Given the description of an element on the screen output the (x, y) to click on. 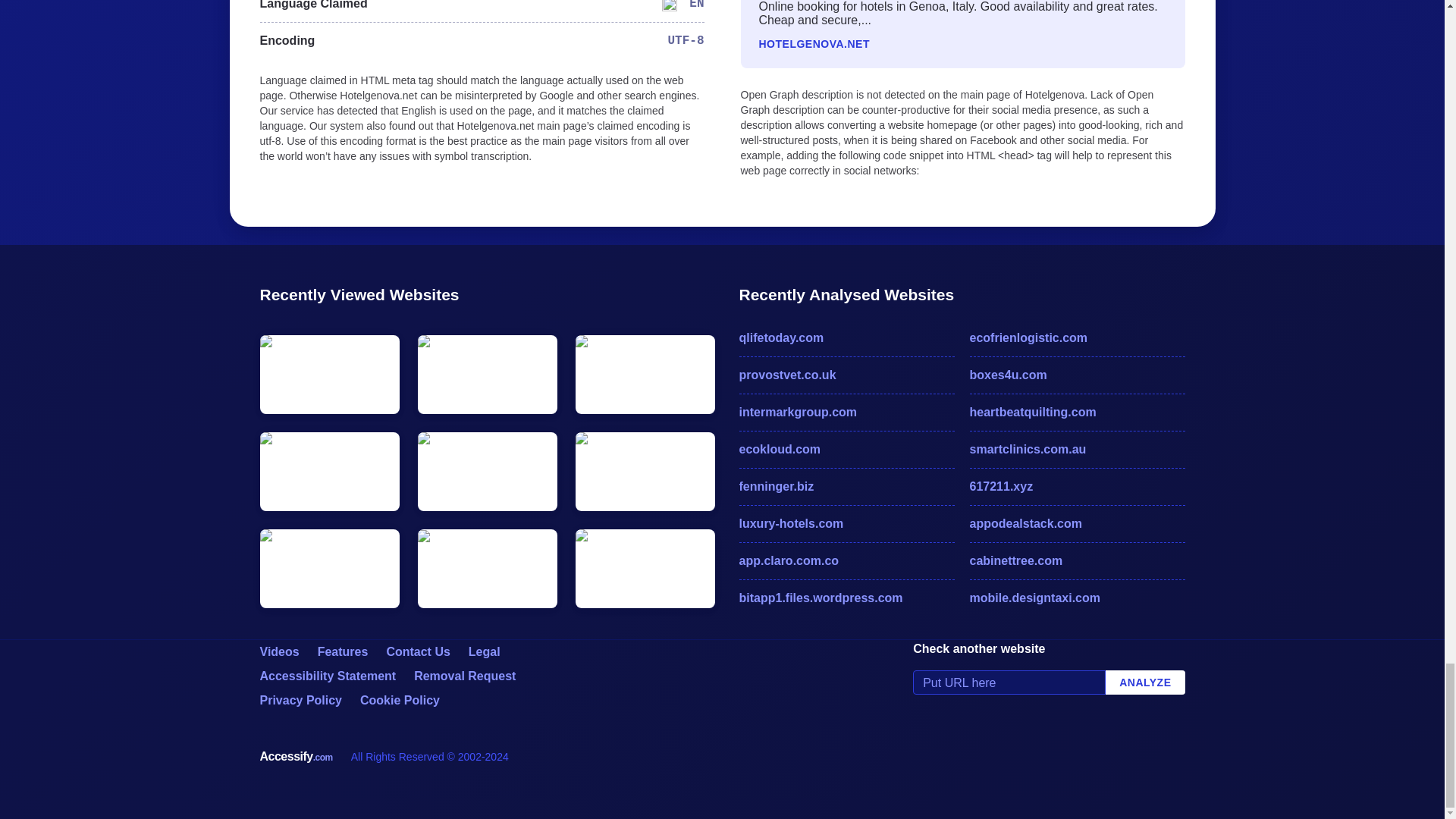
cabinettree.com (1077, 561)
smartclinics.com.au (1077, 449)
mobile.designtaxi.com (1077, 597)
boxes4u.com (1077, 375)
fenninger.biz (845, 486)
app.claro.com.co (845, 561)
heartbeatquilting.com (1077, 412)
luxury-hotels.com (845, 524)
617211.xyz (1077, 486)
bitapp1.files.wordpress.com (845, 597)
appodealstack.com (1077, 524)
provostvet.co.uk (845, 375)
qlifetoday.com (845, 338)
Features (342, 651)
Legal (484, 651)
